Given the description of an element on the screen output the (x, y) to click on. 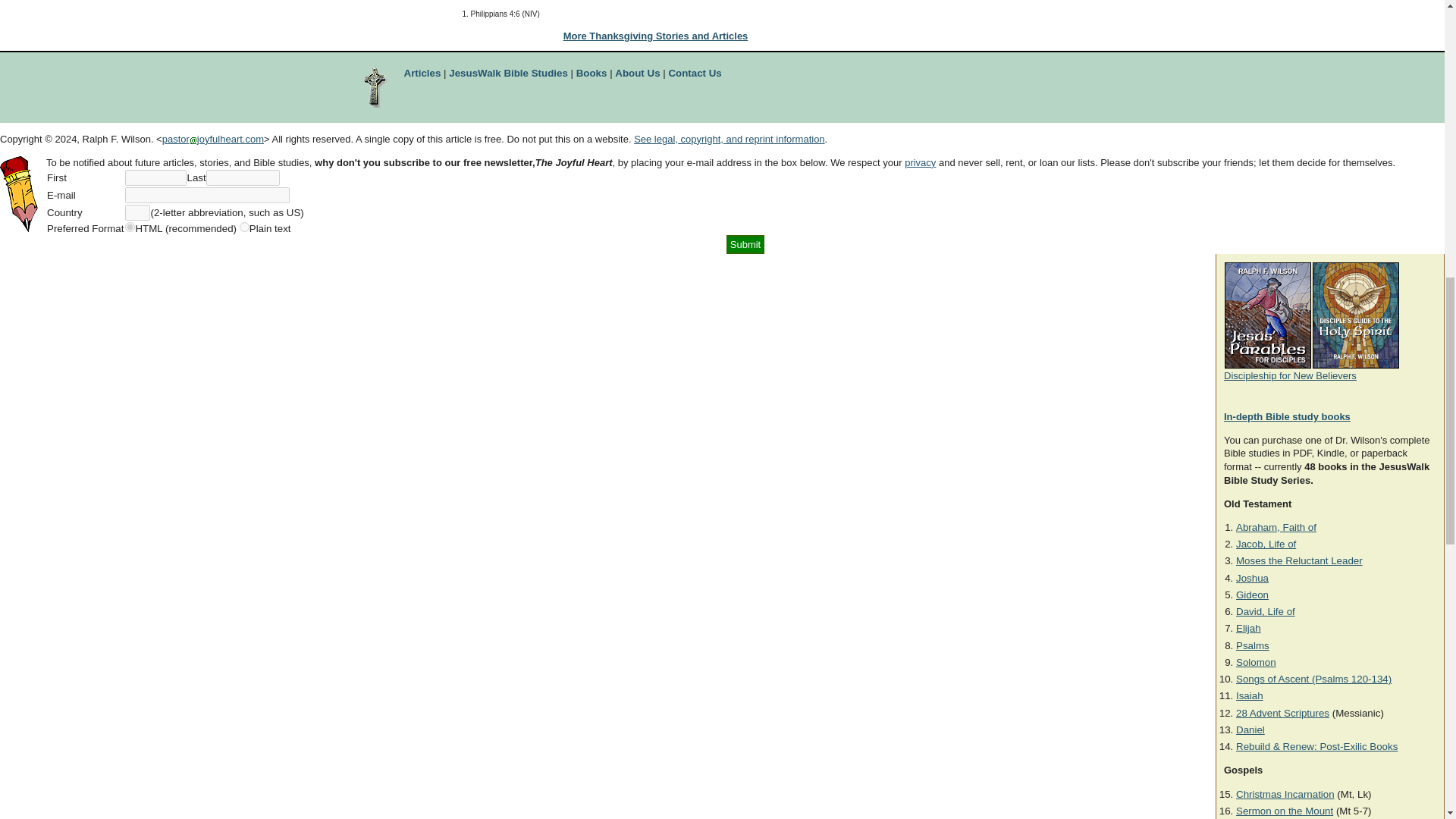
T (244, 226)
Submit (745, 244)
H (130, 226)
